Given the description of an element on the screen output the (x, y) to click on. 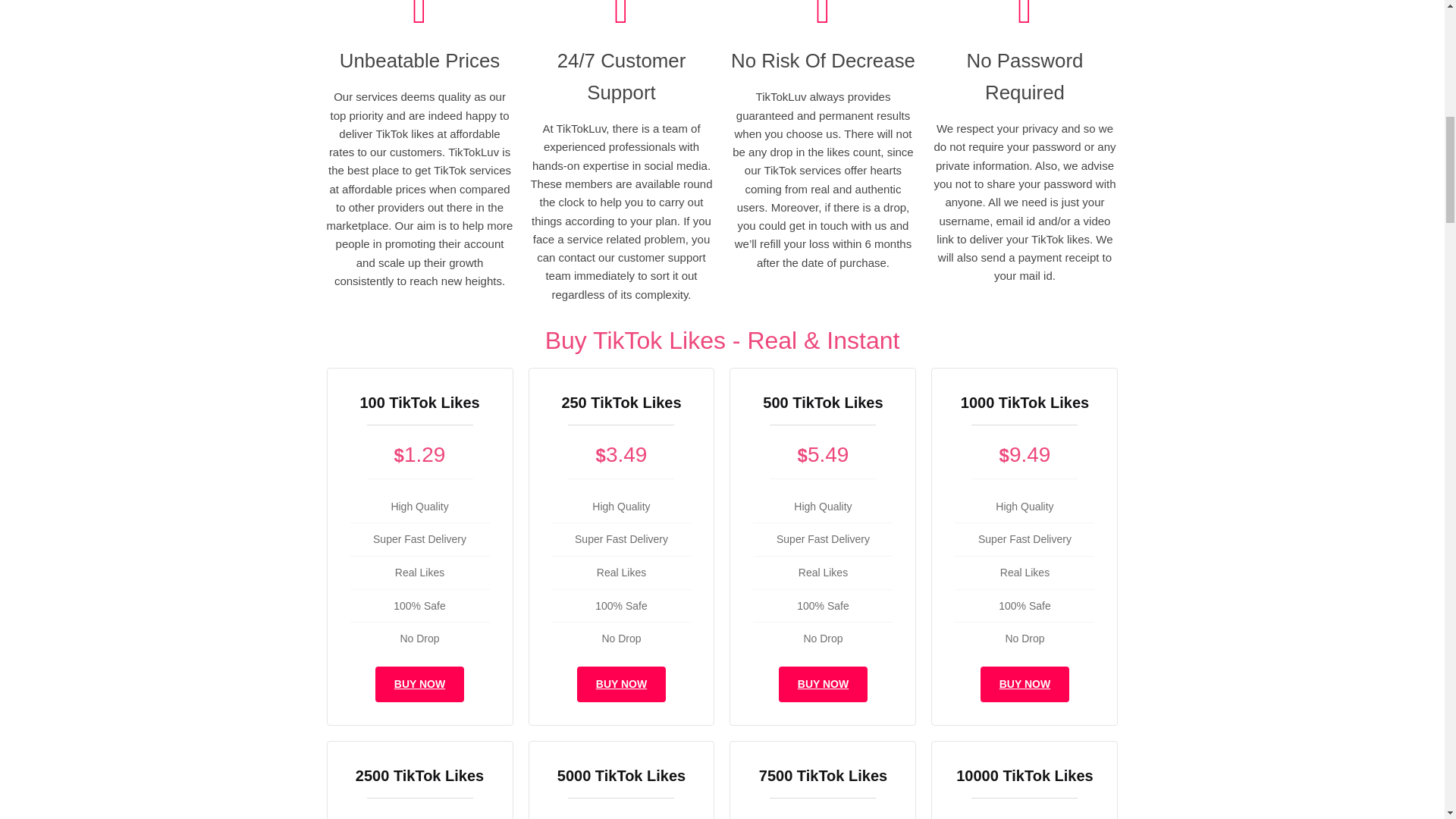
BUY NOW (822, 683)
BUY NOW (620, 683)
BUY NOW (419, 683)
BUY NOW (1023, 683)
